Given the description of an element on the screen output the (x, y) to click on. 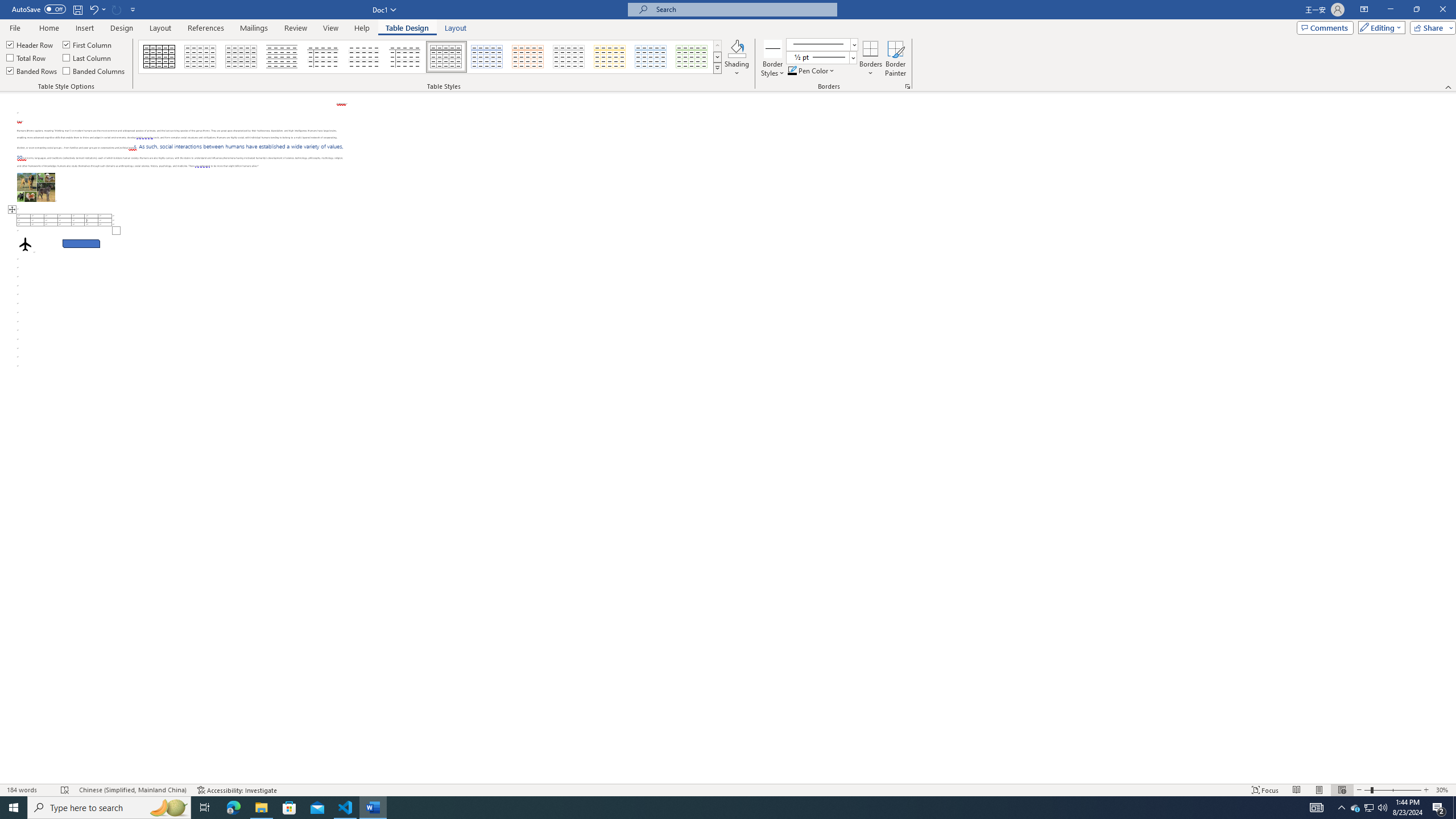
Border Styles (773, 48)
Grid Table 1 Light - Accent 3 (568, 56)
Grid Table 1 Light (446, 56)
Grid Table 1 Light - Accent 4 (609, 56)
Last Column (88, 56)
Can't Repeat (117, 9)
Pen Style (821, 44)
